Given the description of an element on the screen output the (x, y) to click on. 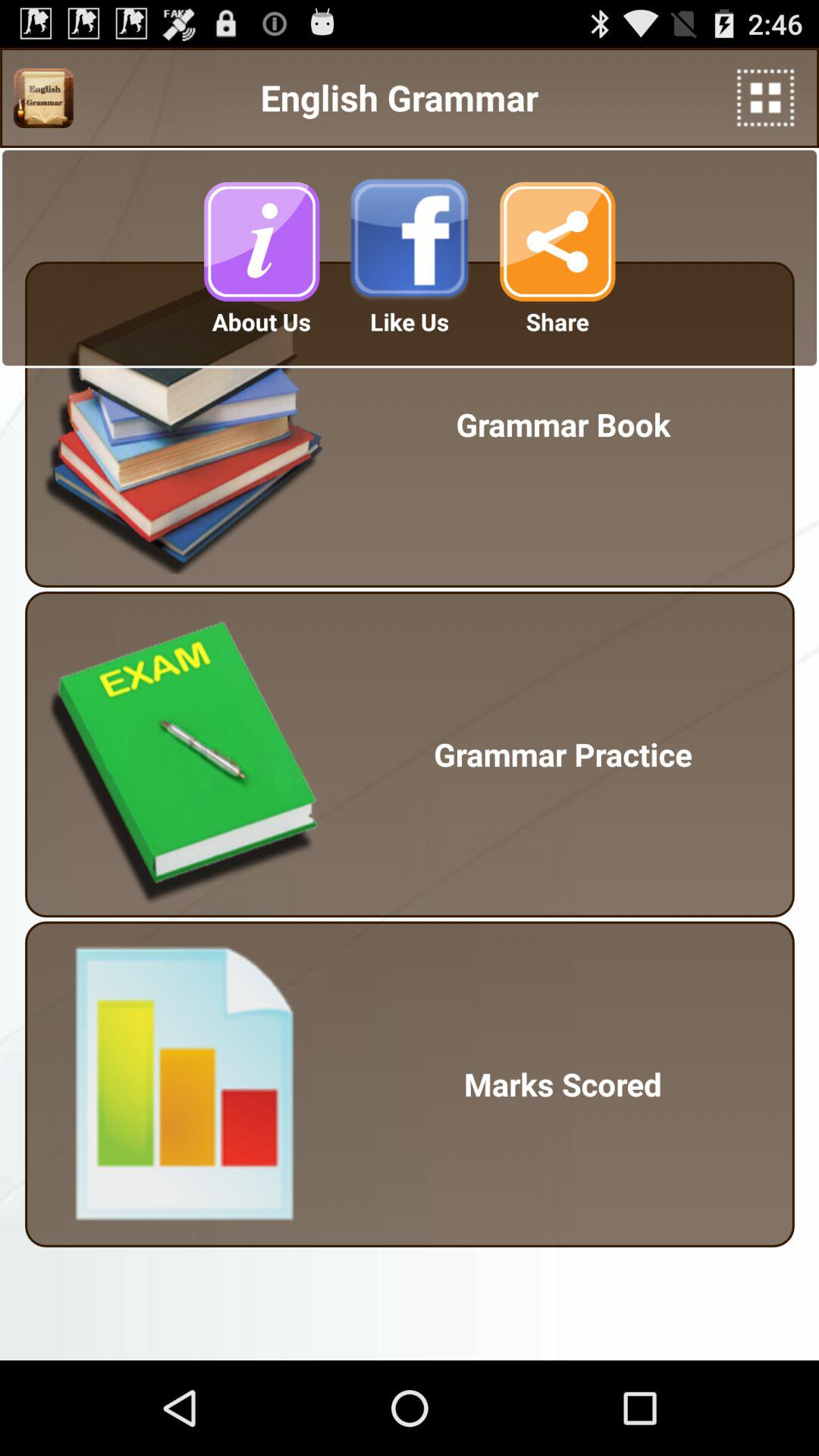
show app options (765, 97)
